Given the description of an element on the screen output the (x, y) to click on. 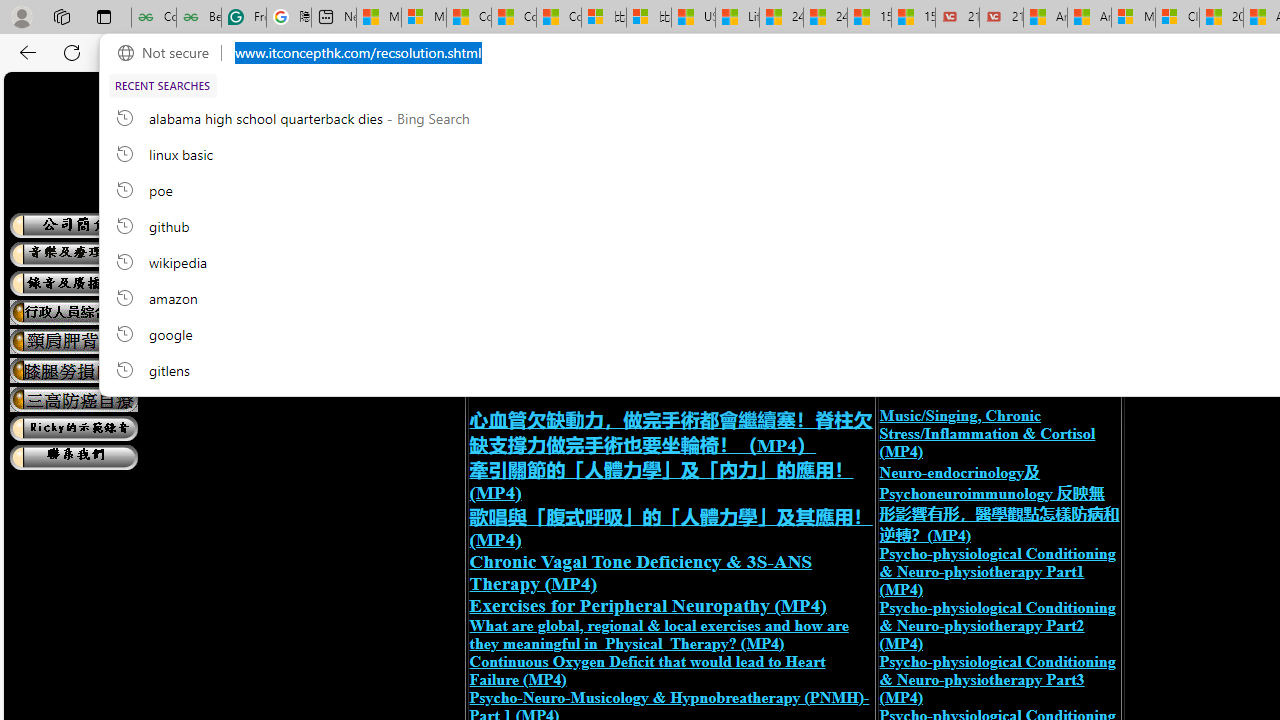
Not secure (168, 53)
Free AI Writing Assistance for Students | Grammarly (243, 17)
Chronic Vagal Tone Deficiency & 3S-ANS Therapy (MP4) (640, 572)
Cloud Computing Services | Microsoft Azure (1177, 17)
Lifestyle - MSN (737, 17)
Best SSL Certificates Provider in India - GeeksforGeeks (198, 17)
